Given the description of an element on the screen output the (x, y) to click on. 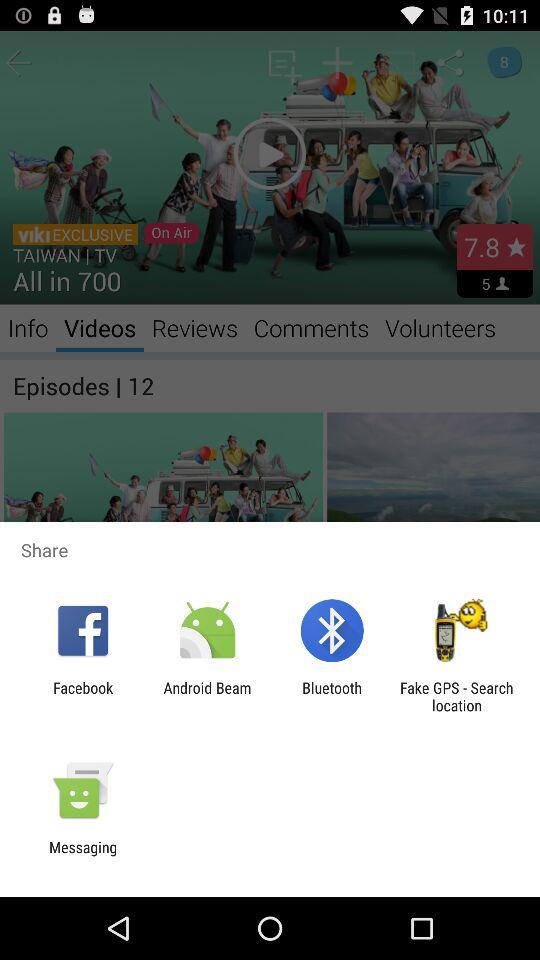
press fake gps search icon (456, 696)
